Given the description of an element on the screen output the (x, y) to click on. 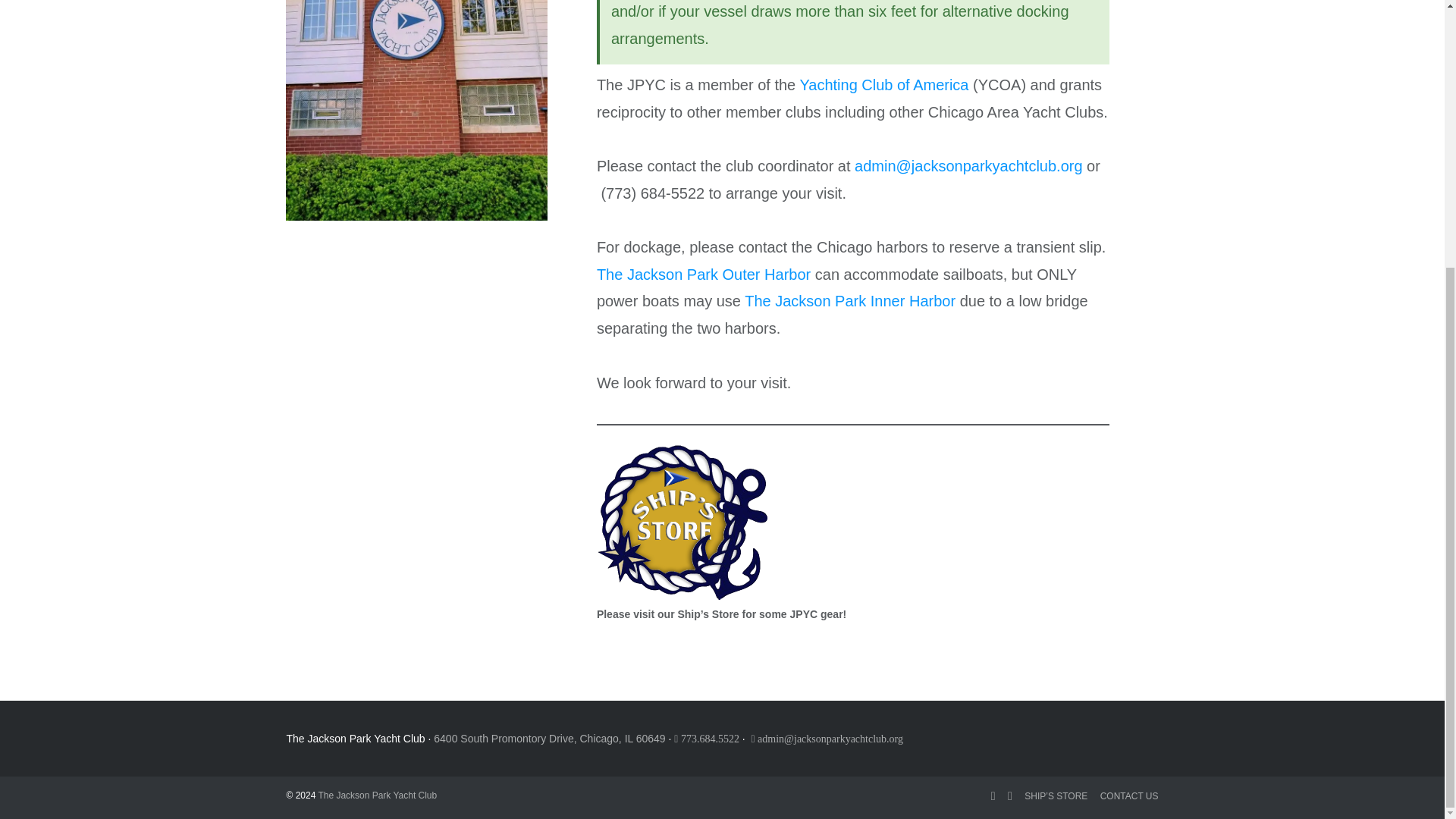
Yachting Club of America (883, 84)
The Jackson Park Outer Harbor (703, 274)
The Jackson Park Inner Harbor (849, 300)
The Jackson Park Yacht Club (376, 795)
 773.684.5522 (706, 738)
6400 South Promontory Drive, Chicago, IL 60649 (549, 738)
The Jackson Park Outer Harbor (703, 274)
CONTACT US (1129, 795)
The Jackson Park Inner Harbor (849, 300)
Yachting Club of America (883, 84)
